Given the description of an element on the screen output the (x, y) to click on. 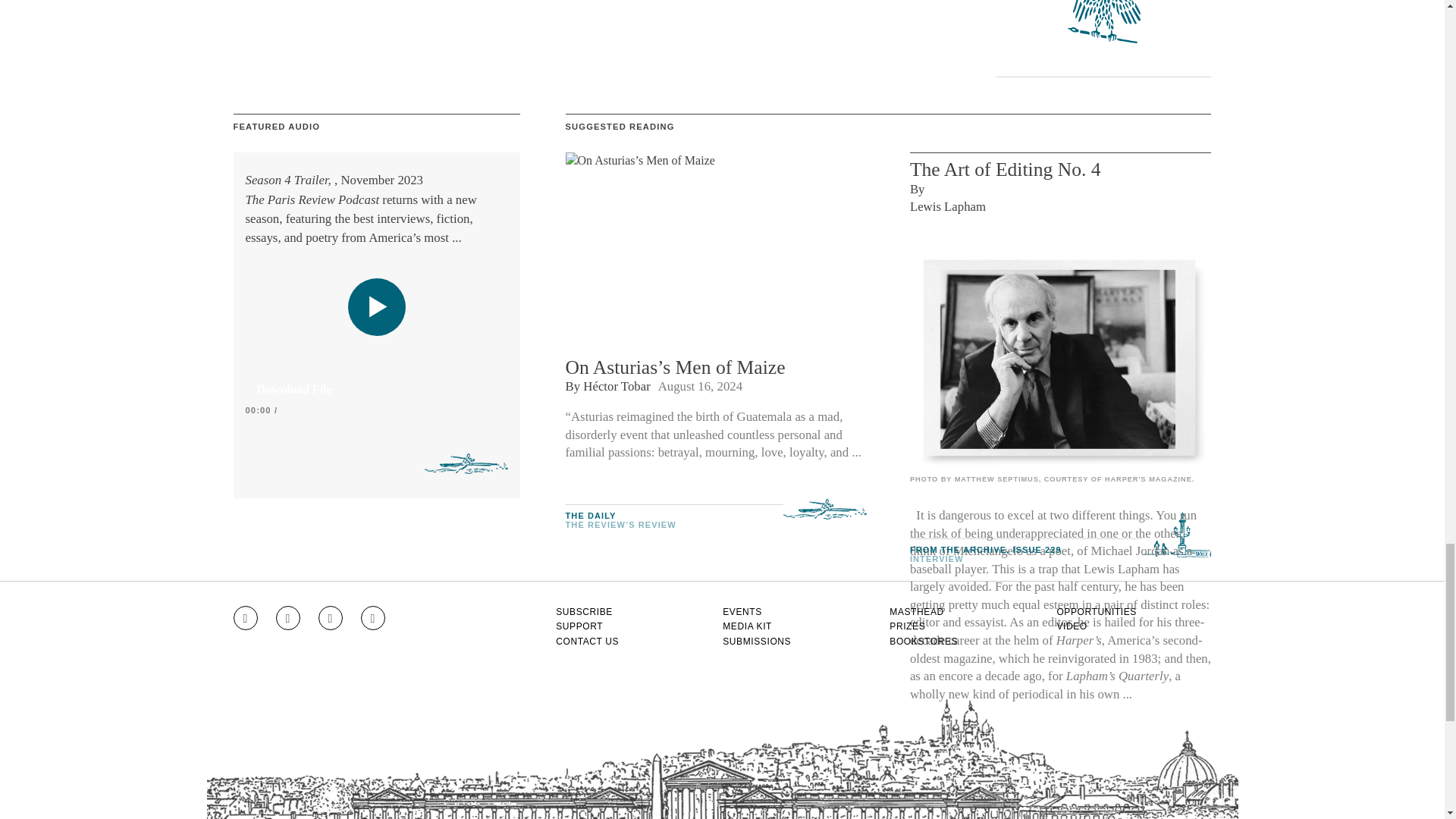
Go to Facebook page (287, 617)
Go to RSS feed (373, 617)
Go to Instagram feed (244, 617)
undefined (1060, 357)
Go to Twitter feed (330, 617)
